Given the description of an element on the screen output the (x, y) to click on. 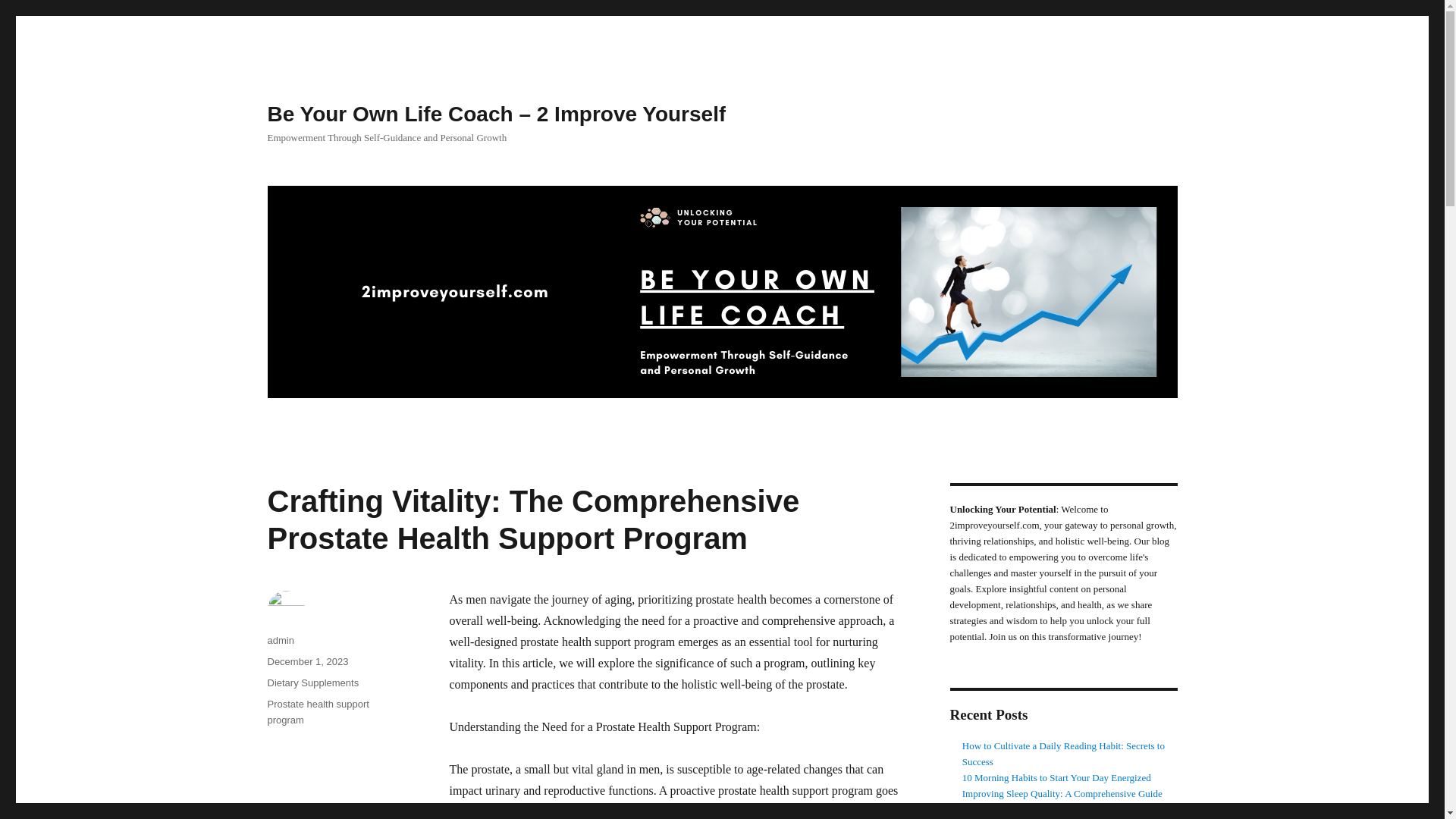
Prostate health support program (317, 711)
Dietary Supplements (312, 682)
10 Morning Habits to Start Your Day Energized (1056, 777)
Improving Sleep Quality: A Comprehensive Guide (1061, 793)
December 1, 2023 (306, 661)
admin (280, 640)
How to Cultivate a Daily Reading Habit: Secrets to Success (1063, 753)
